Given the description of an element on the screen output the (x, y) to click on. 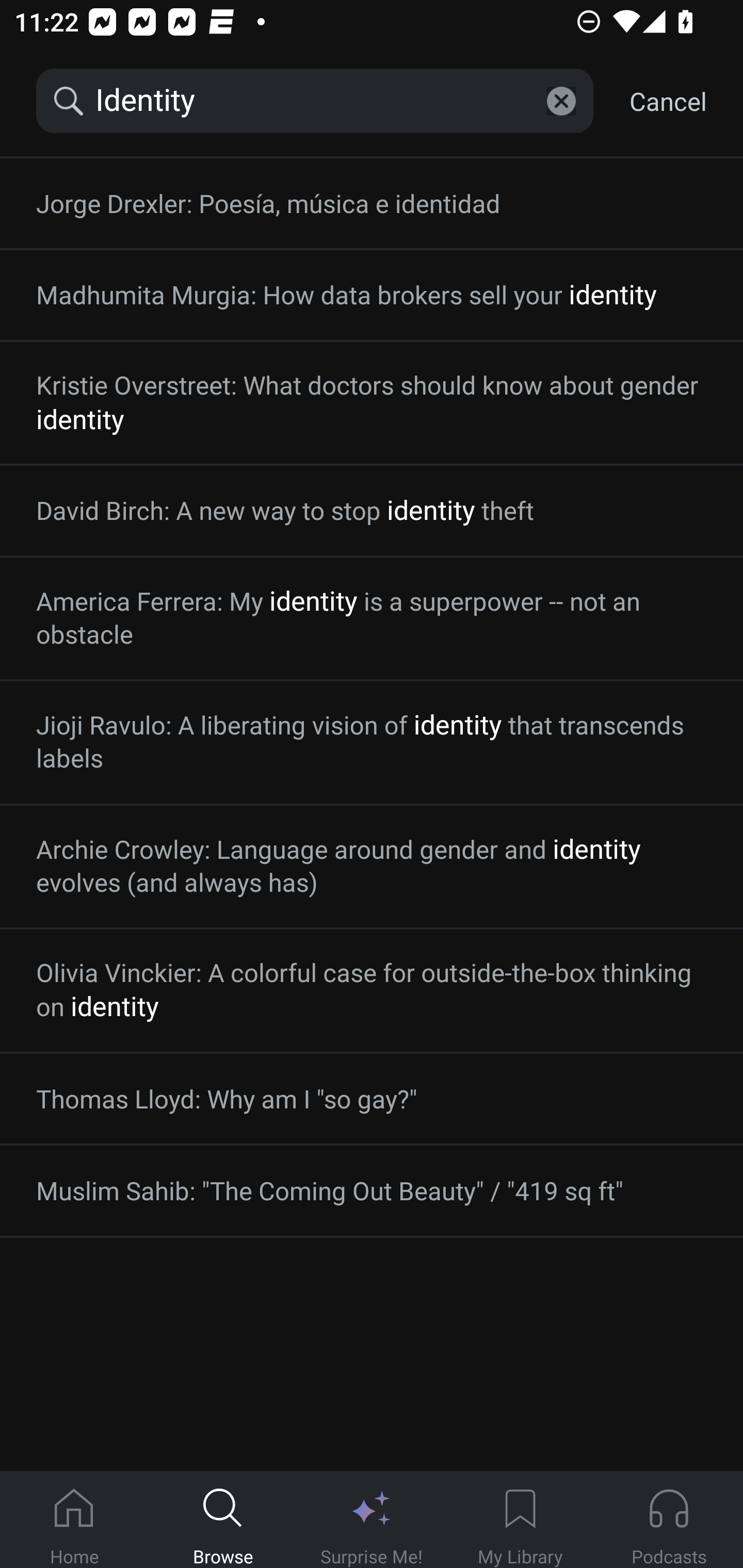
Identity (314, 100)
Cancel (667, 100)
Jorge Drexler: Poesía, música e identidad (371, 203)
David Birch: A new way to stop identity theft (371, 510)
Thomas Lloyd: Why am I "so gay?" (371, 1098)
Home (74, 1520)
Browse (222, 1520)
Surprise Me! (371, 1520)
My Library (519, 1520)
Podcasts (668, 1520)
